Given the description of an element on the screen output the (x, y) to click on. 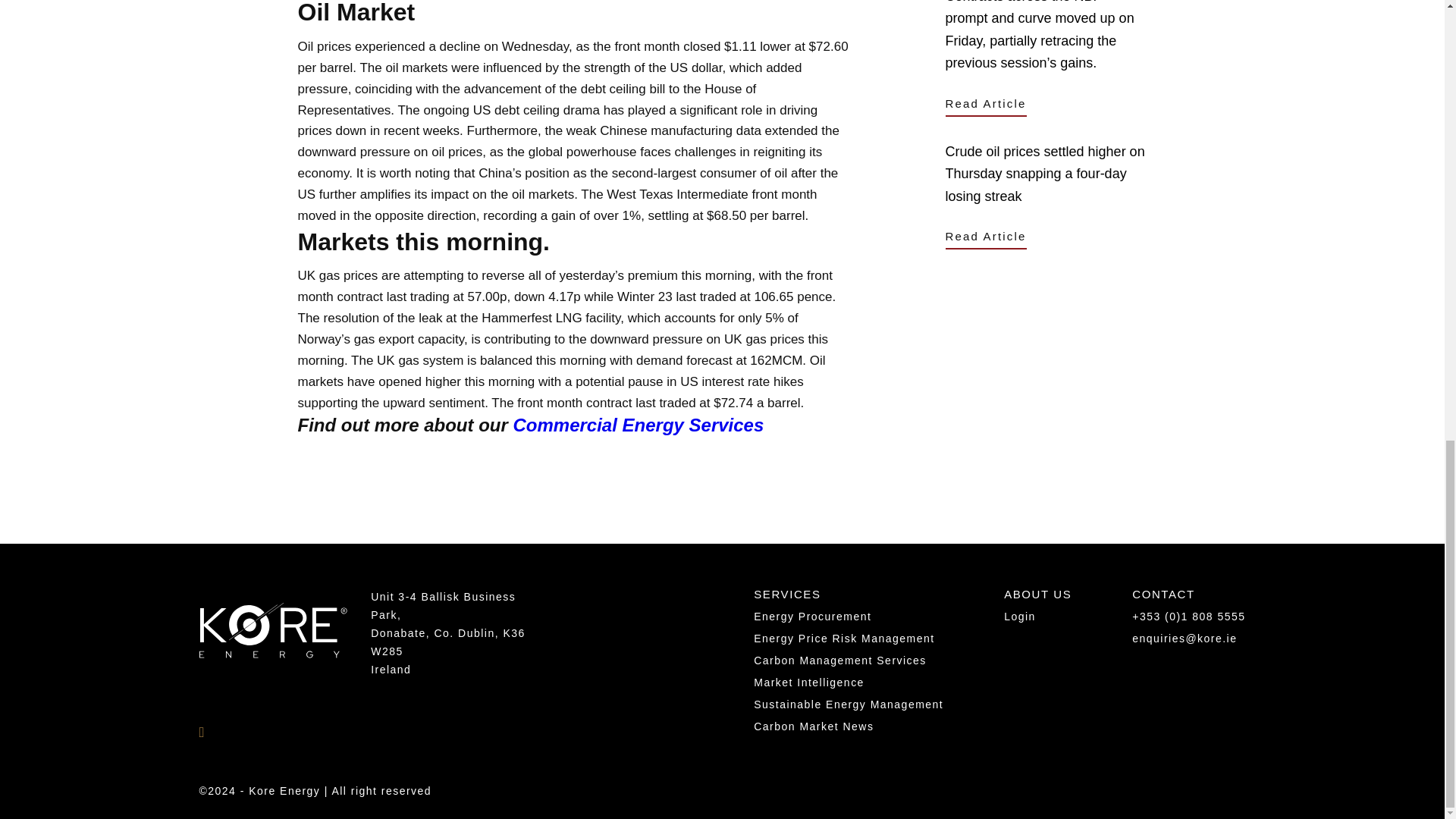
Read Article (985, 237)
Login (1019, 616)
Commercial Energy Services (637, 424)
CONTACT (1162, 598)
Get In Touch (991, 452)
Read Article (985, 105)
ABOUT US (1037, 598)
SERVICES (787, 598)
Energy Price Risk Management (844, 638)
